Given the description of an element on the screen output the (x, y) to click on. 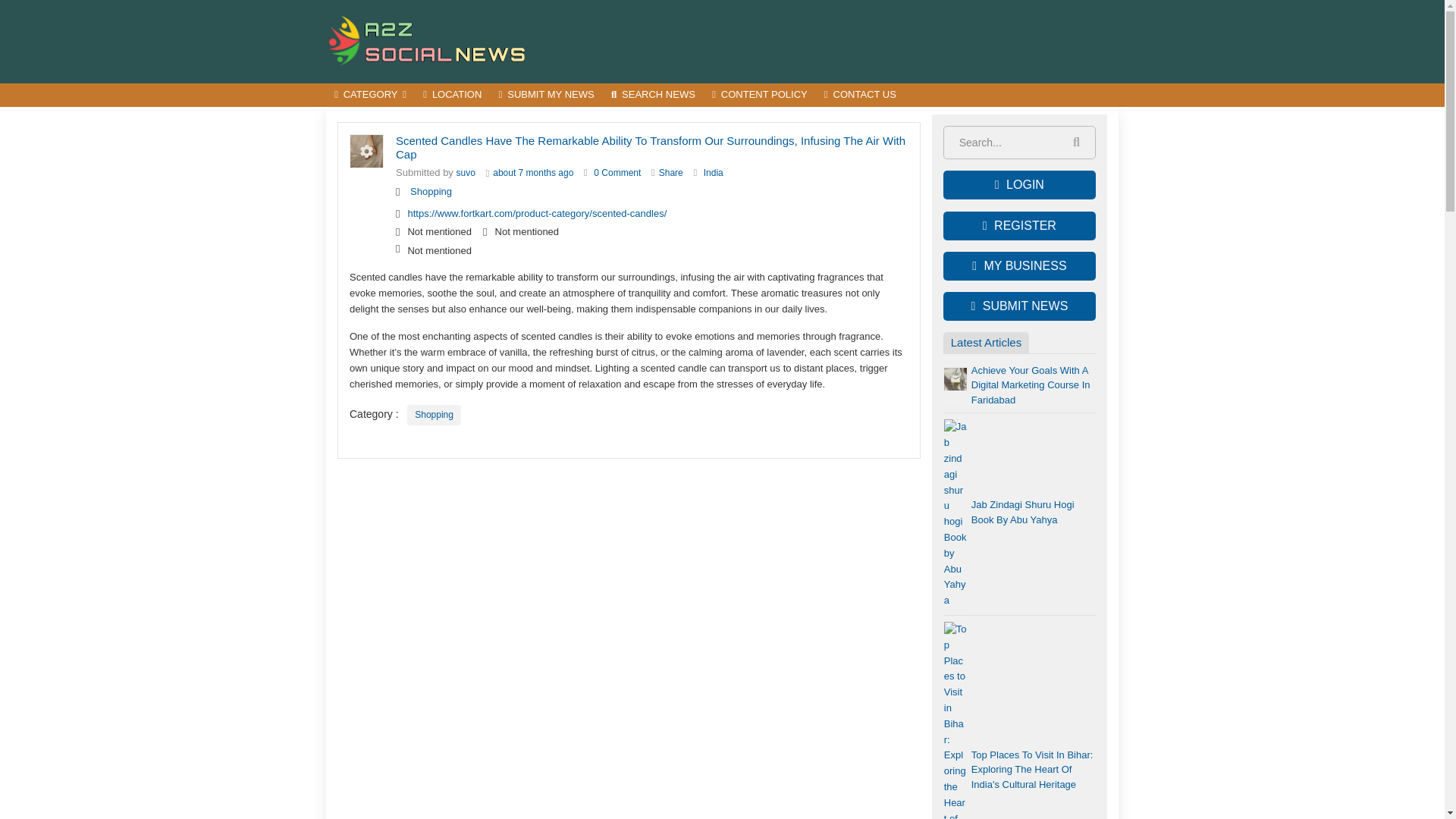
India (713, 172)
SUBMIT MY NEWS (546, 95)
suvo (466, 172)
My Business (1019, 265)
CONTACT US (859, 95)
CONTENT POLICY (759, 95)
Share (670, 172)
MY BUSINESS (1019, 265)
India (713, 172)
